Given the description of an element on the screen output the (x, y) to click on. 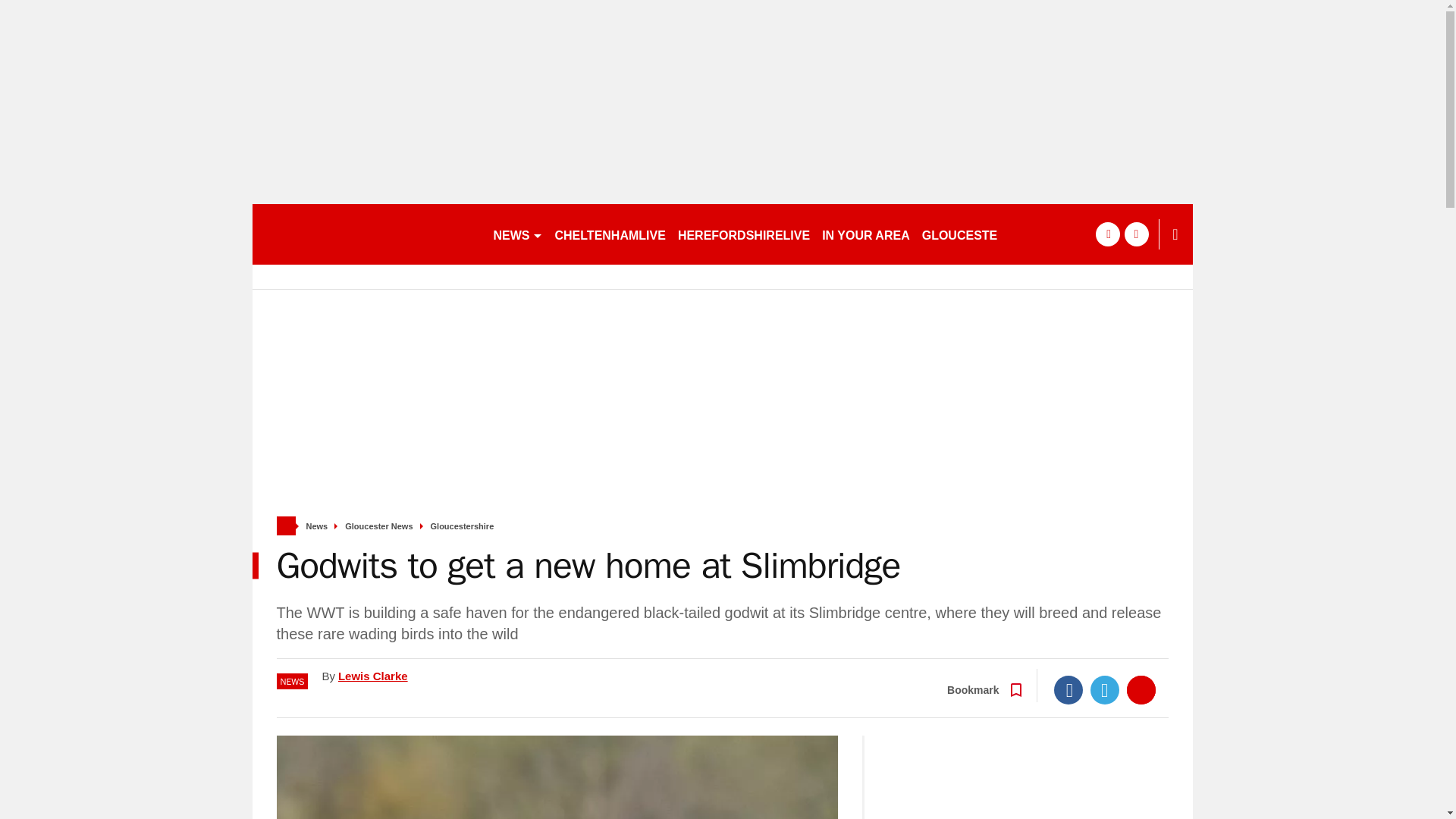
IN YOUR AREA (865, 233)
HEREFORDSHIRELIVE (743, 233)
facebook (1106, 233)
GLOUCESTER NEWS (983, 233)
gloucestershirelive (365, 233)
Twitter (1104, 689)
Facebook (1068, 689)
NEWS (517, 233)
twitter (1136, 233)
CHELTENHAMLIVE (609, 233)
